Given the description of an element on the screen output the (x, y) to click on. 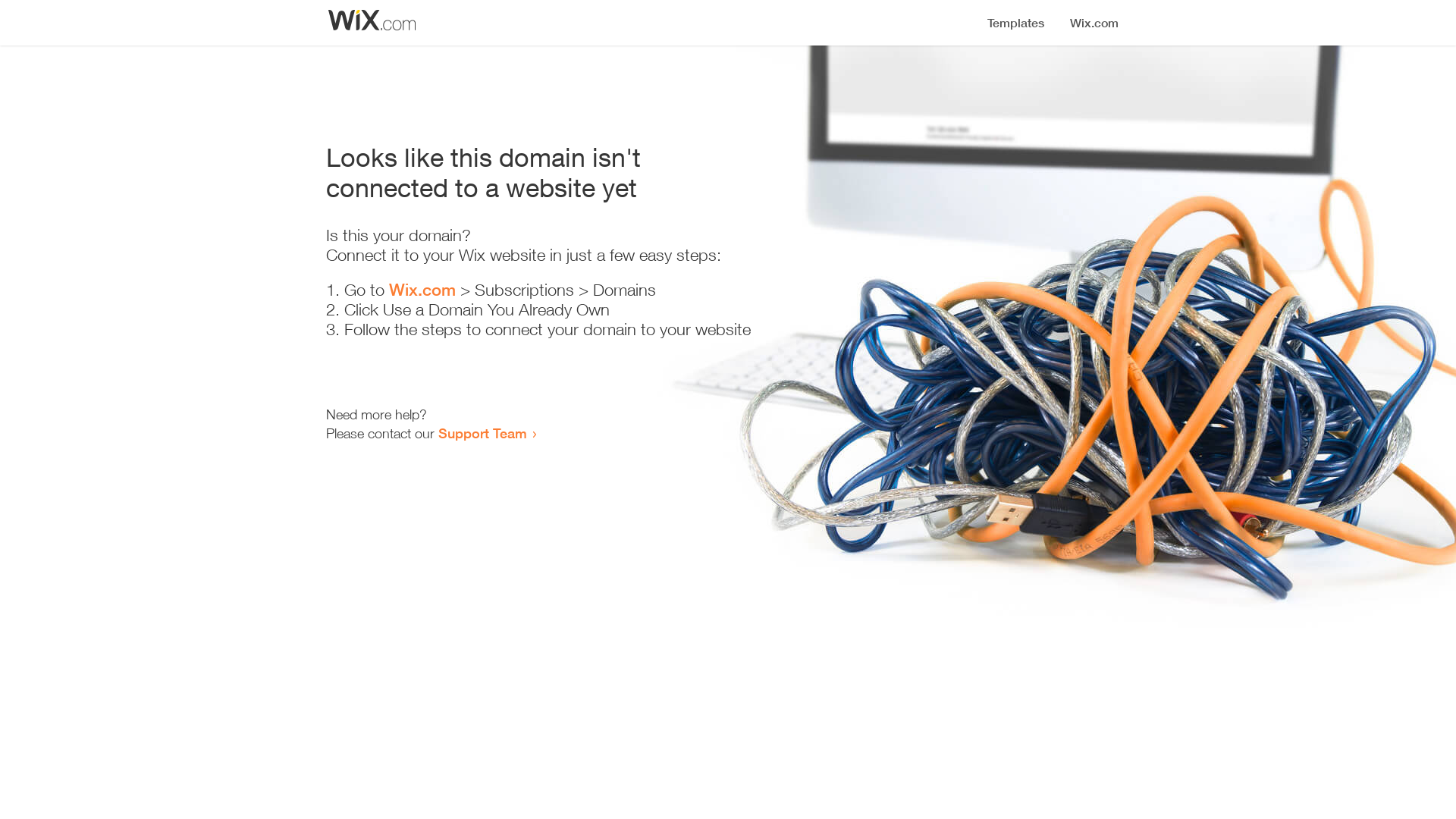
Support Team Element type: text (482, 432)
Wix.com Element type: text (422, 289)
